Given the description of an element on the screen output the (x, y) to click on. 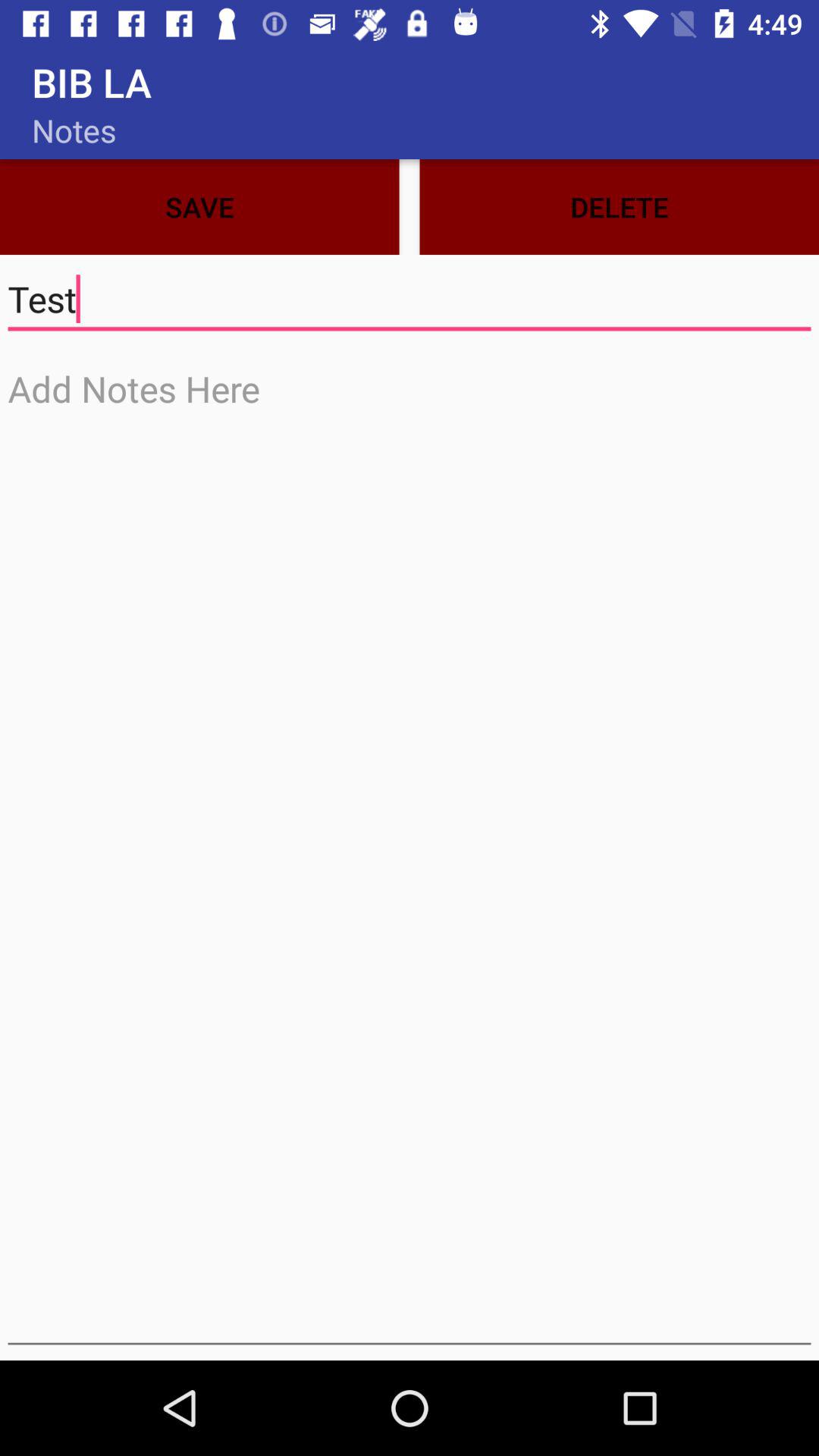
flip until the delete (619, 206)
